Given the description of an element on the screen output the (x, y) to click on. 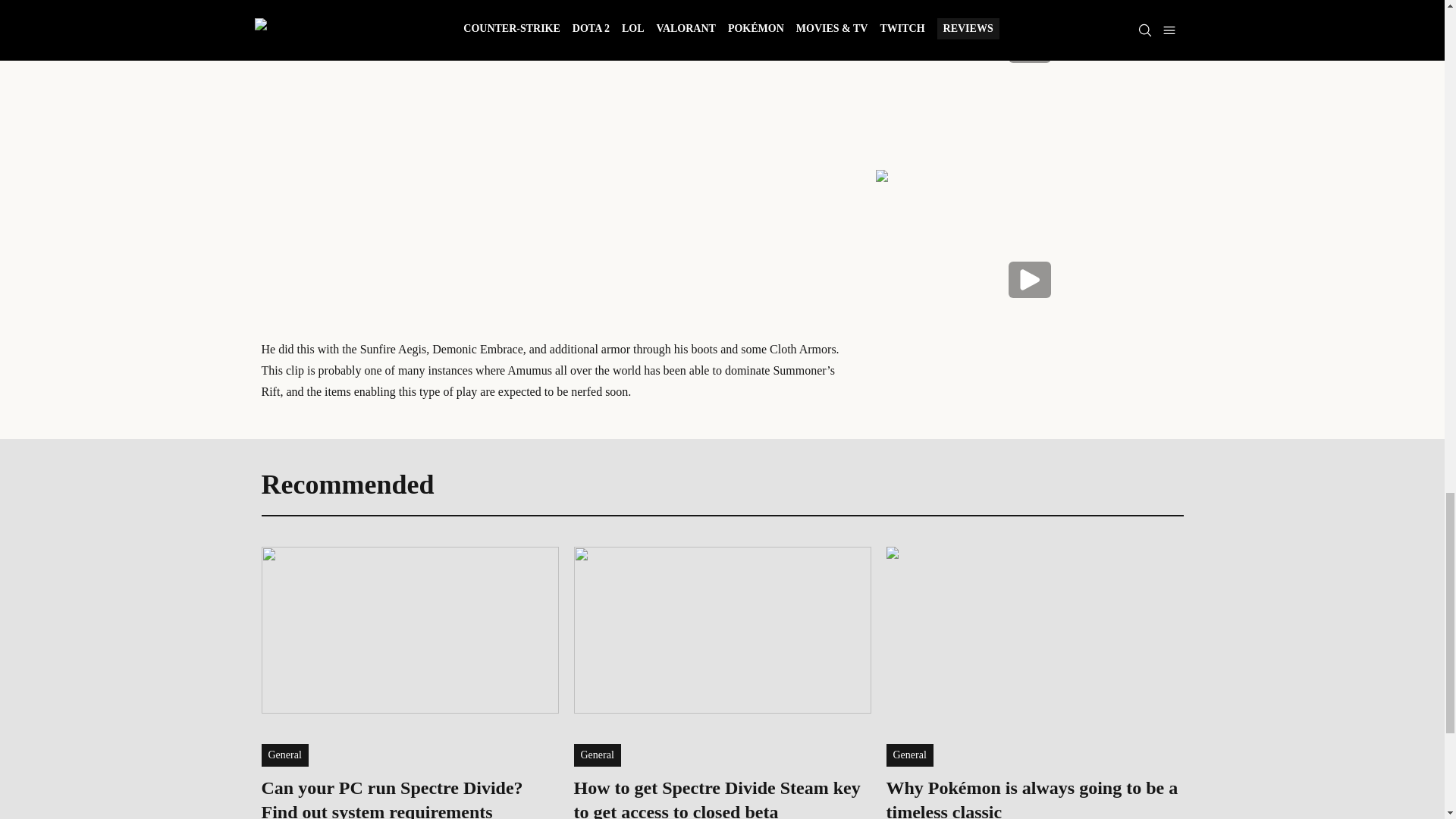
General (909, 754)
General (283, 754)
Can your PC run Spectre Divide? Find out system requirements (408, 797)
General (596, 754)
